Given the description of an element on the screen output the (x, y) to click on. 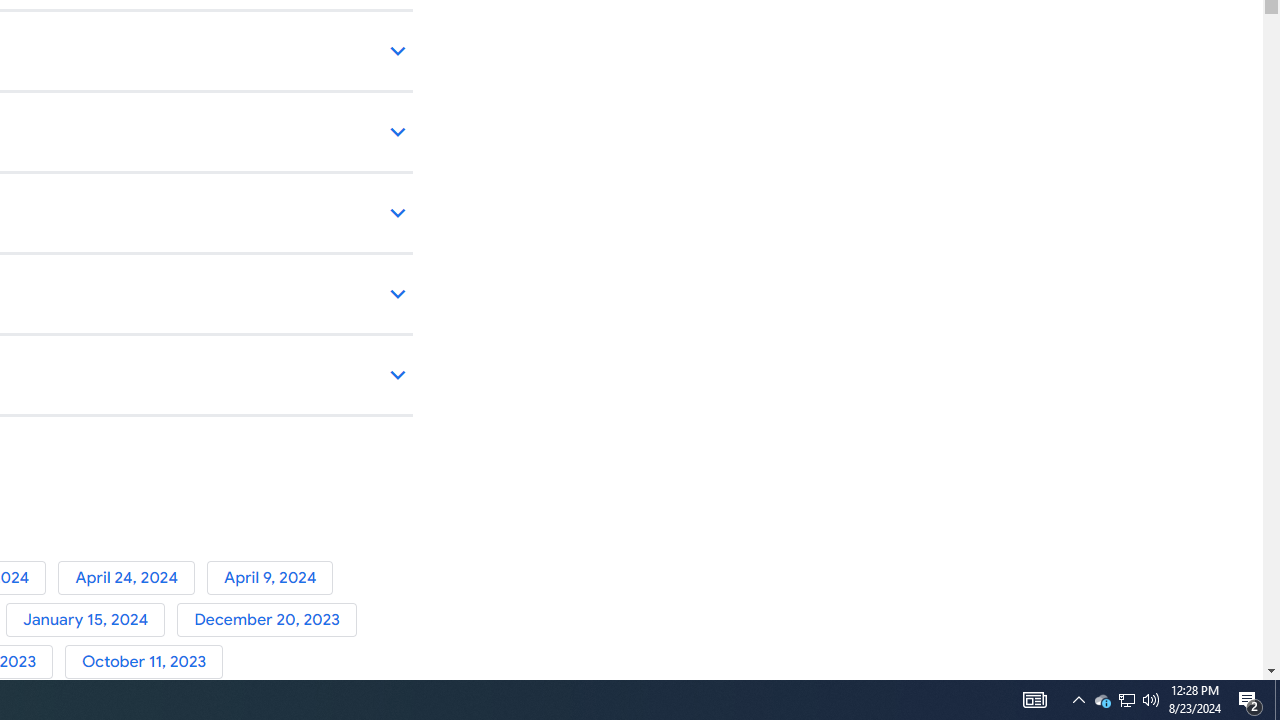
April 24, 2024 (132, 577)
April 9, 2024 (273, 577)
January 15, 2024 (91, 620)
December 20, 2023 (270, 620)
October 11, 2023 (147, 661)
